Given the description of an element on the screen output the (x, y) to click on. 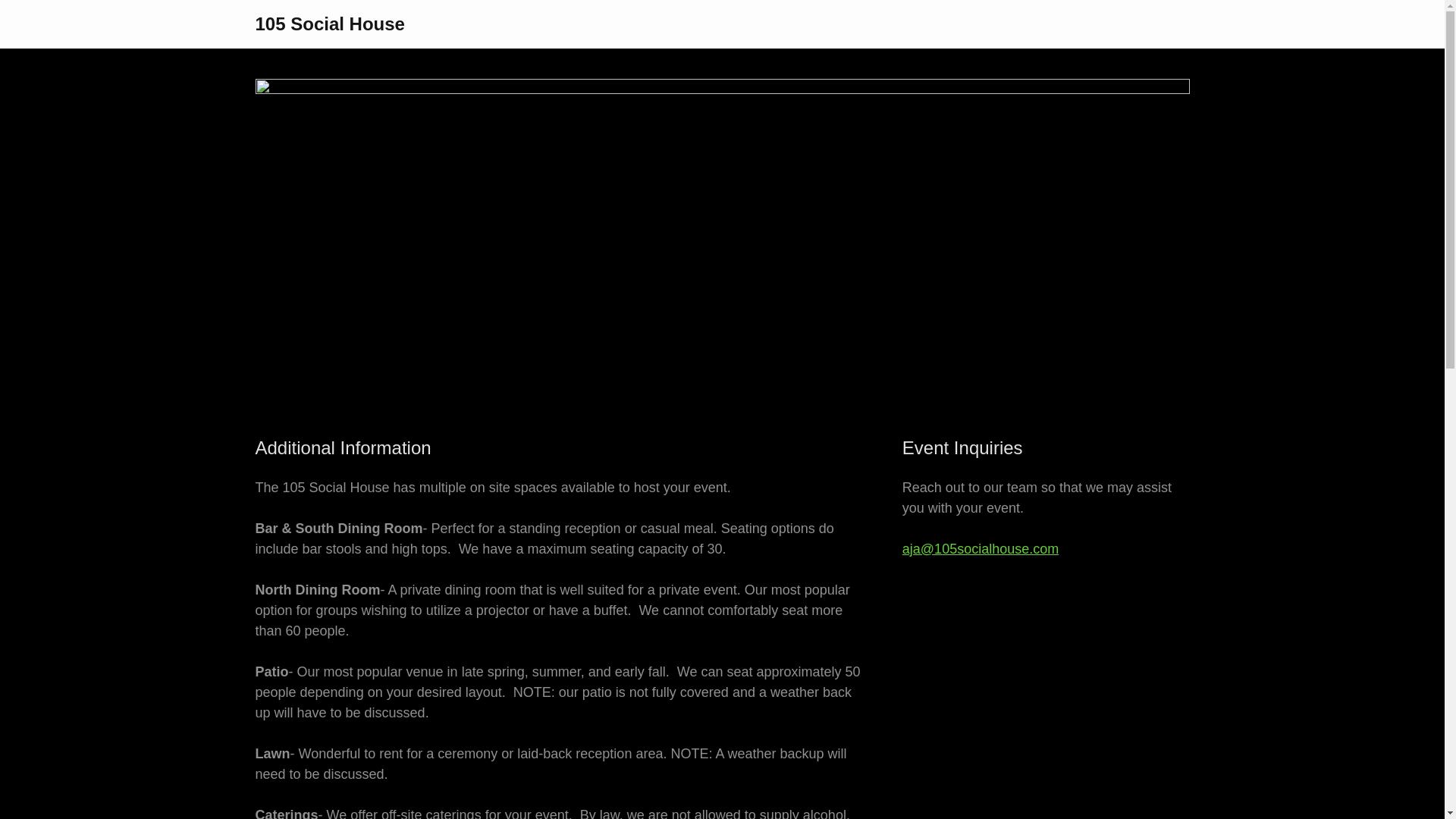
aja@105socialhouse.com Element type: text (980, 548)
105 Social House Element type: text (329, 25)
